Given the description of an element on the screen output the (x, y) to click on. 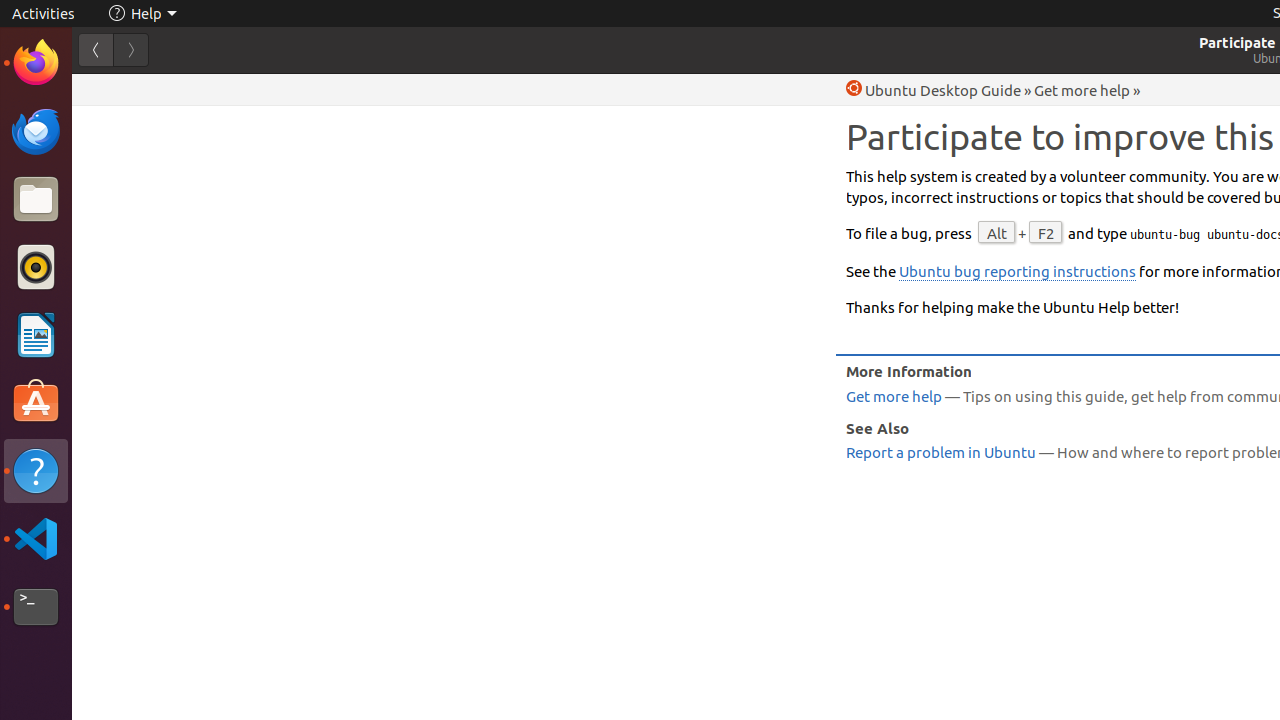
luyi1 Element type: label (133, 89)
